Given the description of an element on the screen output the (x, y) to click on. 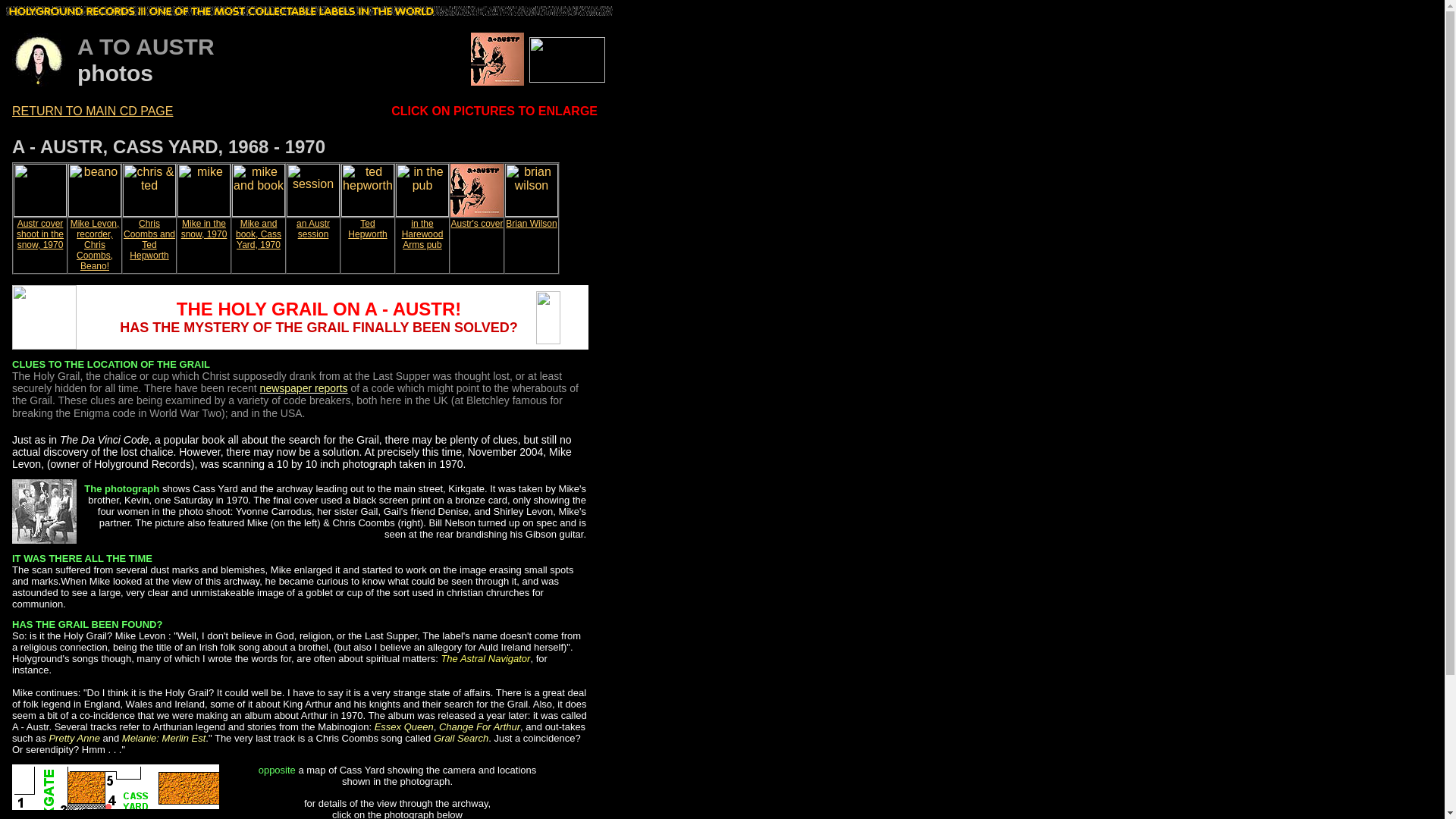
Austr cover shoot in the snow, 1970 (40, 234)
RETURN TO MAIN CD PAGE (92, 110)
Brian Wilson (530, 223)
Chris Coombs and Ted Hepworth (148, 239)
an Austr session (313, 228)
Mike Levon, recorder, Chris Coombs, Beano! (94, 244)
Mike in the snow, 1970 (203, 228)
in the Harewood Arms pub (422, 234)
Ted Hepworth (367, 228)
Austr's cover (475, 223)
